Given the description of an element on the screen output the (x, y) to click on. 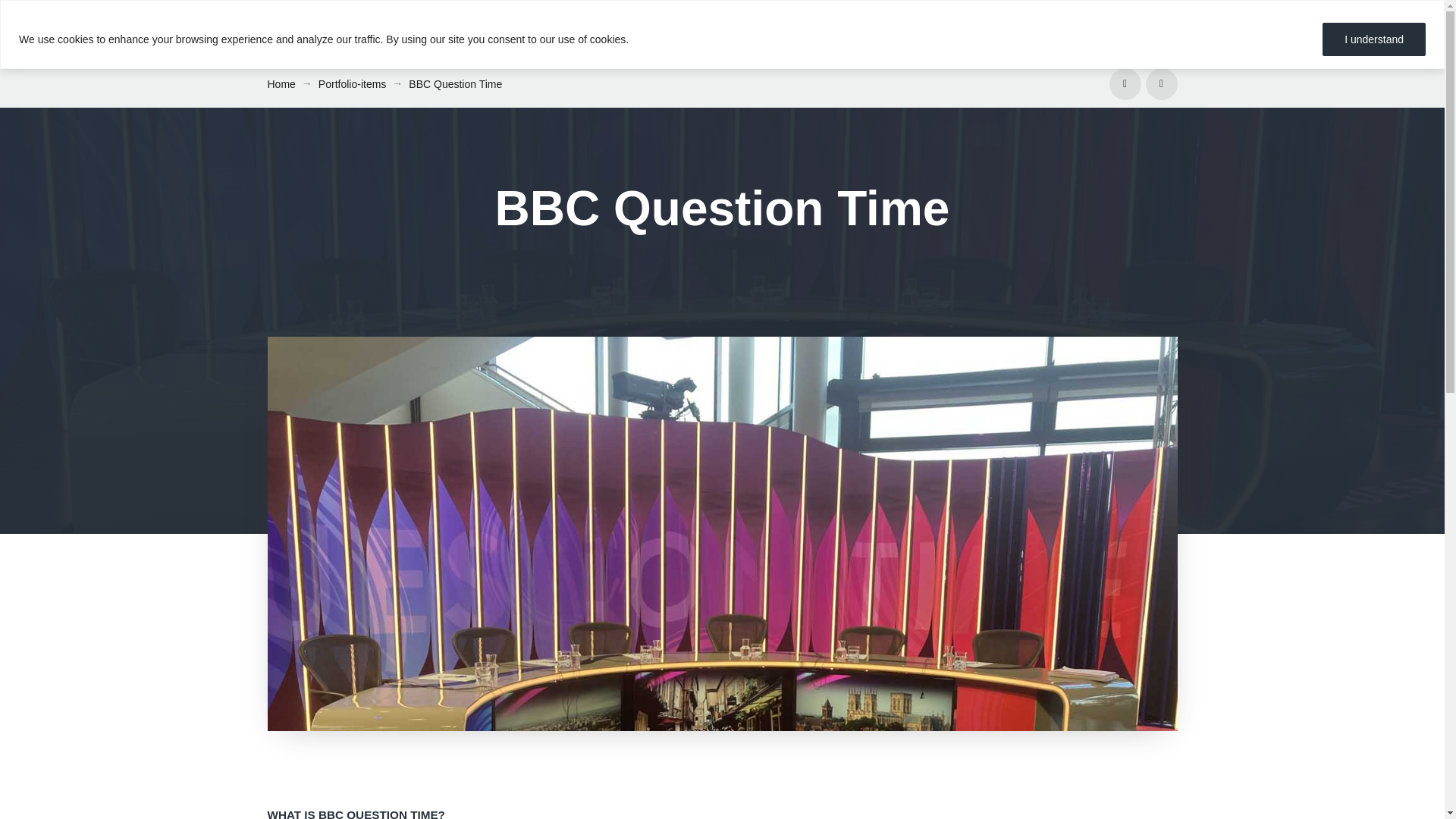
Prev (1124, 83)
About us (1336, 30)
I understand (1373, 39)
Our Services (1011, 30)
Contact us (1402, 30)
You Are Here (455, 83)
Home (280, 83)
BBC Question Time (455, 83)
Our Venues (933, 30)
Portfolio-items (351, 83)
Weddings (1273, 30)
Our Portfolio (1093, 30)
Next (1160, 83)
Upcoming Events (1187, 30)
